Given the description of an element on the screen output the (x, y) to click on. 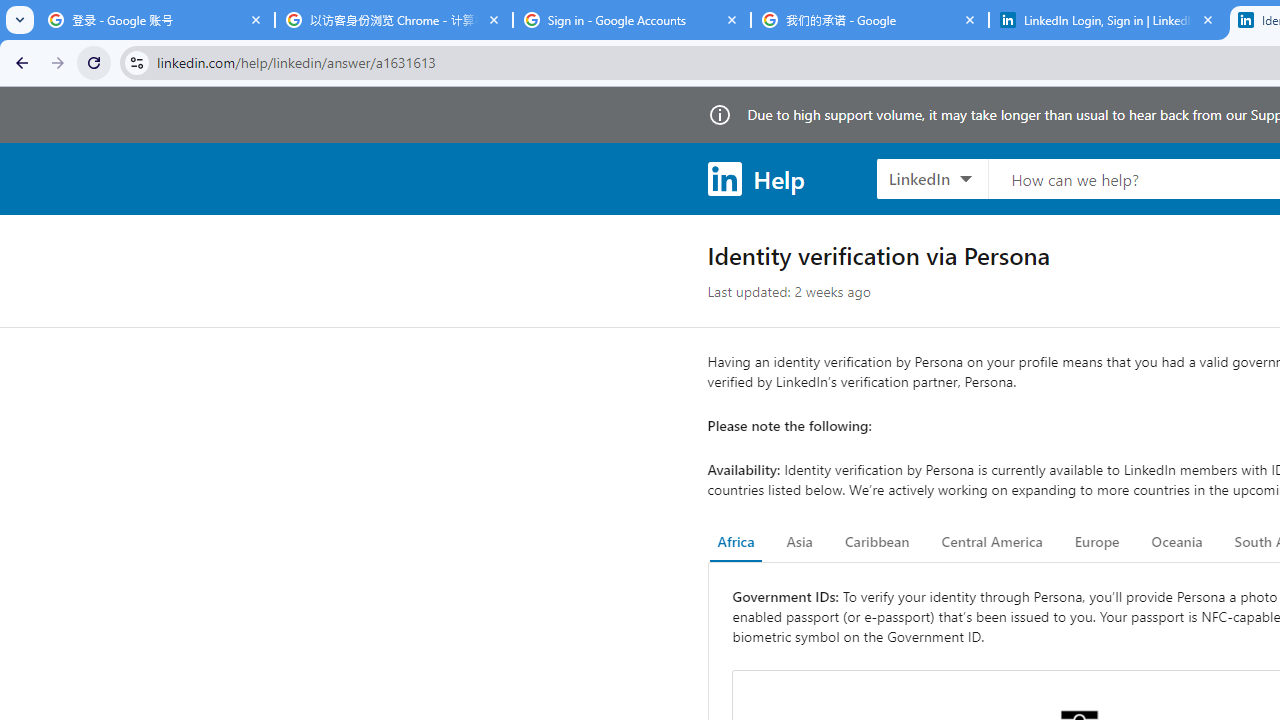
Europe (1096, 542)
LinkedIn Login, Sign in | LinkedIn (1108, 20)
LinkedIn products to search, LinkedIn selected (932, 178)
Oceania (1176, 542)
Caribbean (876, 542)
Asia (799, 542)
Sign in - Google Accounts (632, 20)
